Given the description of an element on the screen output the (x, y) to click on. 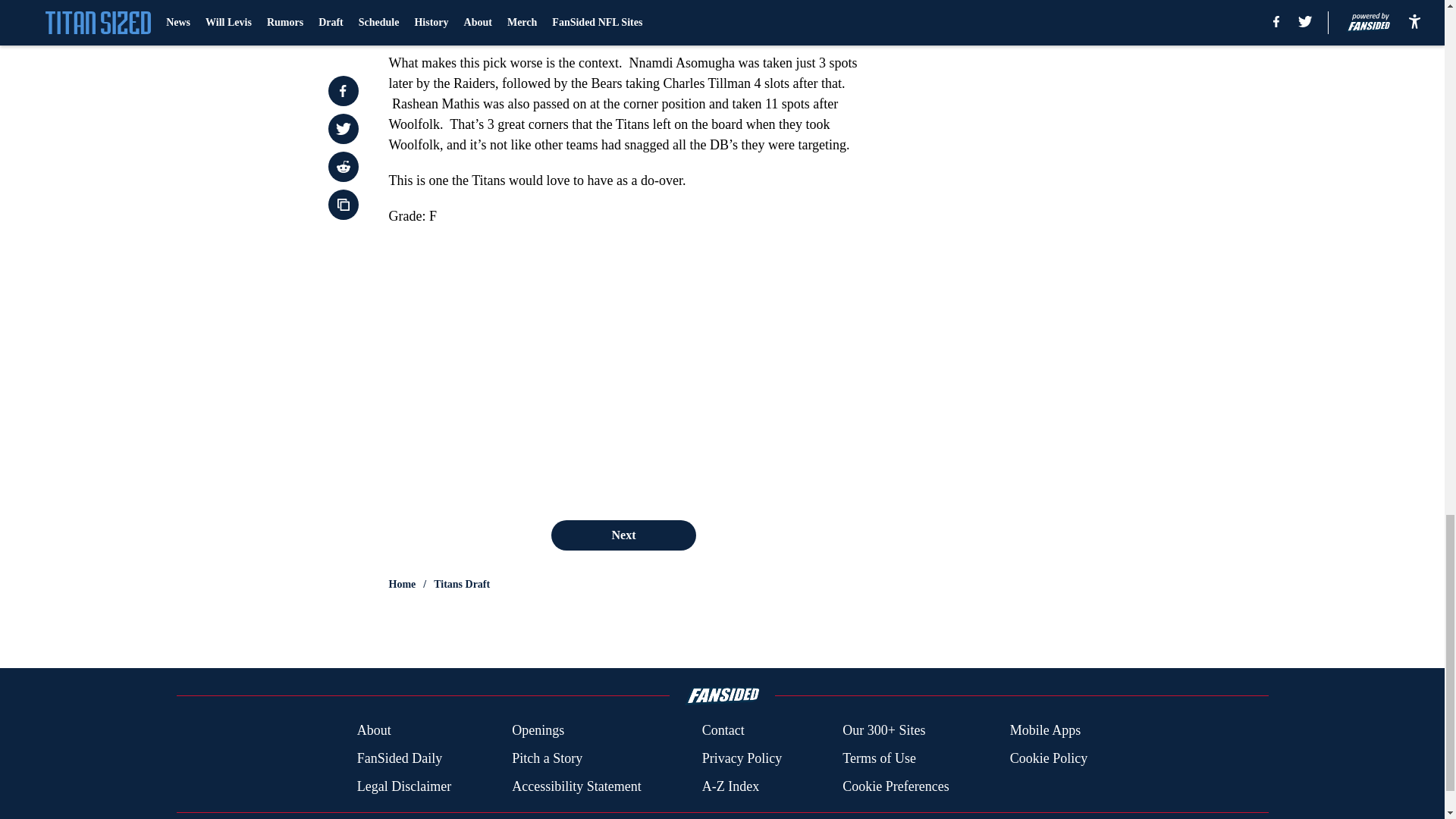
FanSided Daily (399, 758)
Mobile Apps (1045, 730)
Titans Draft (461, 584)
About (373, 730)
Openings (538, 730)
Next (622, 535)
Pitch a Story (547, 758)
Contact (722, 730)
Home (401, 584)
